Given the description of an element on the screen output the (x, y) to click on. 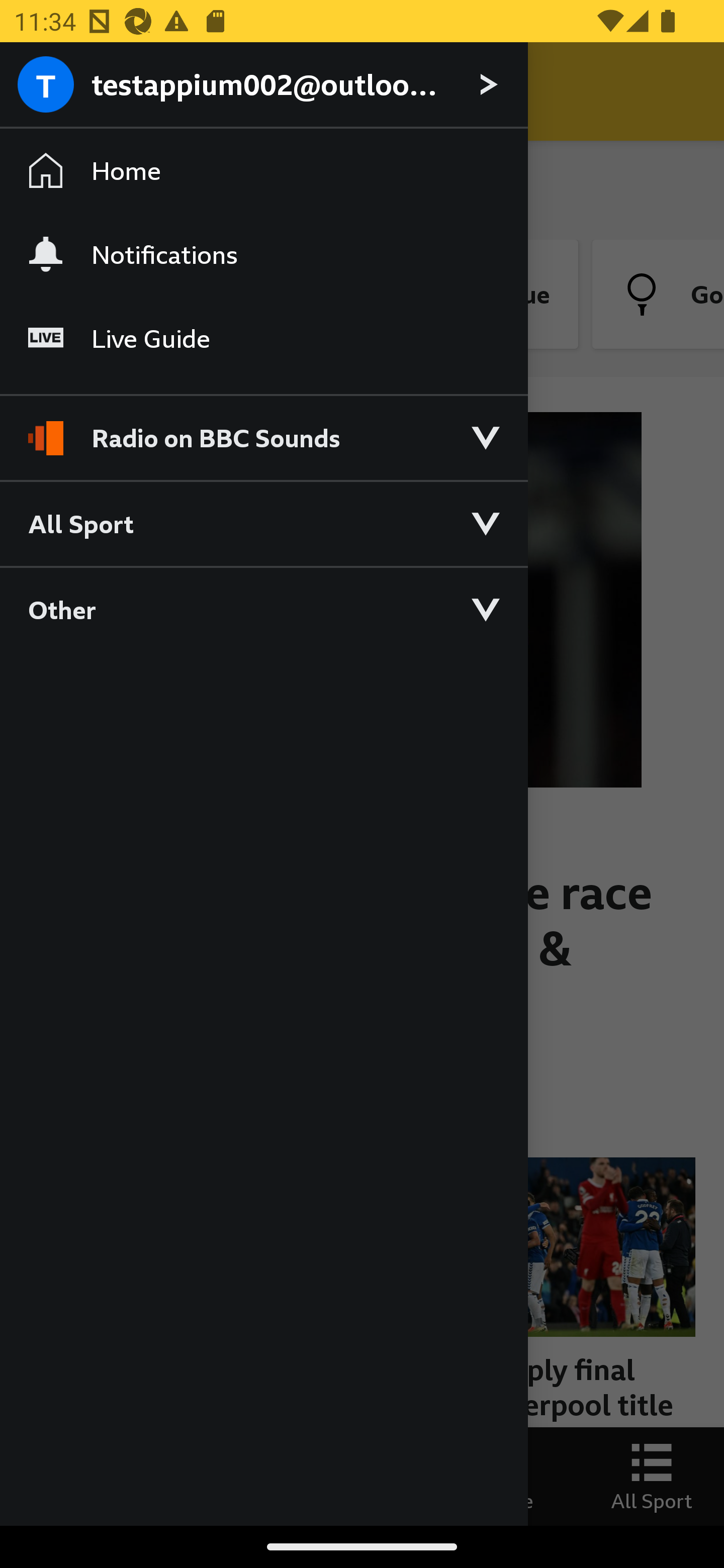
testappium002@outlook.com (263, 85)
Home (263, 170)
Notifications (263, 253)
Live Guide (263, 338)
Radio on BBC Sounds (263, 429)
All Sport (263, 522)
Other (263, 609)
